Given the description of an element on the screen output the (x, y) to click on. 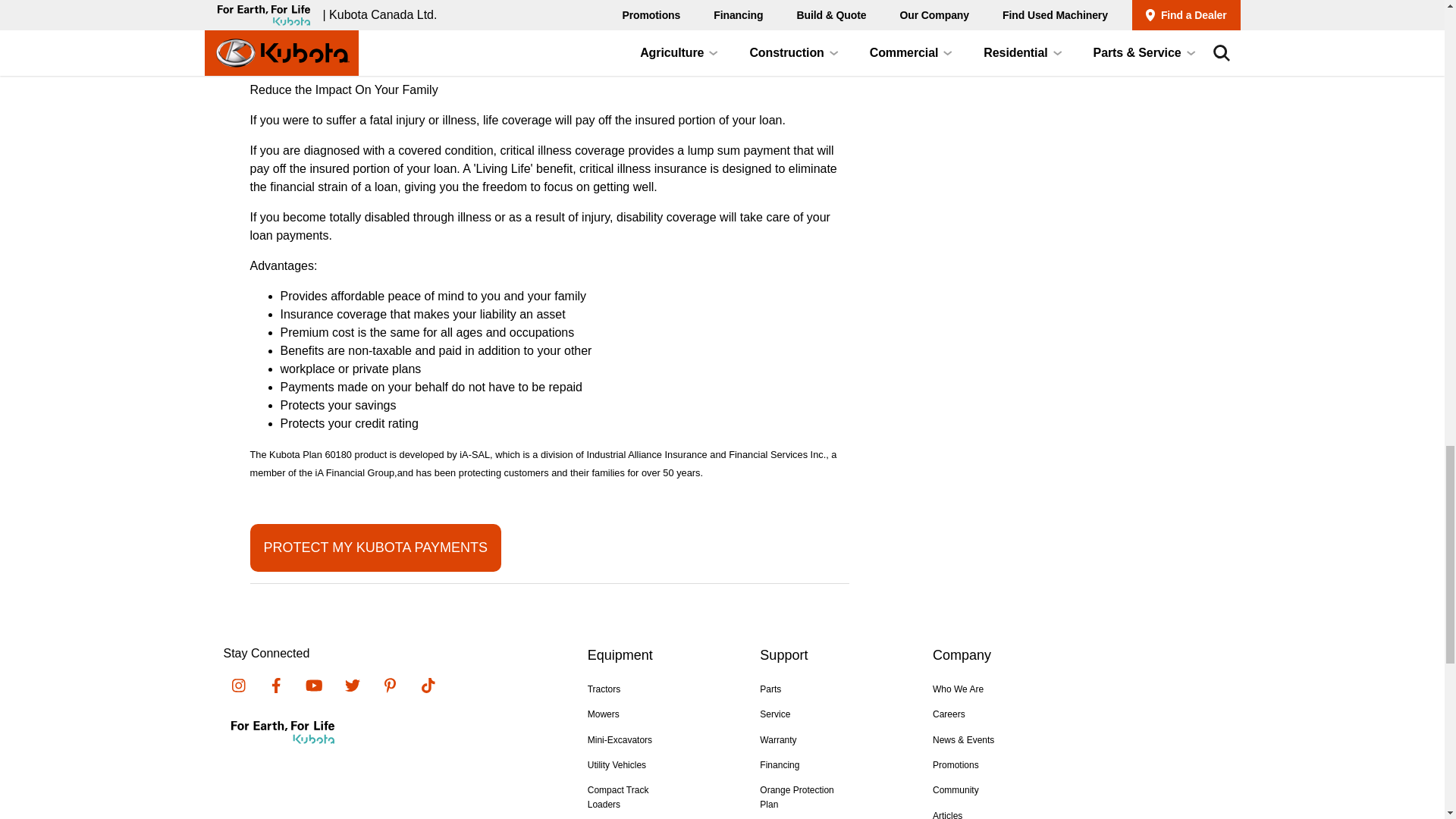
Mowers (604, 714)
Warranty (778, 739)
Financing (779, 765)
Parts (770, 688)
Compact Track Loaders (618, 796)
Mini-Excavators (375, 547)
Follow us on Pintrest (620, 739)
Follow us on Instagram (389, 685)
Follow us on Facebook (237, 685)
Follow us on YouTube (275, 685)
Tractors (313, 685)
Service (604, 688)
Follow us on TikTok (775, 714)
Utility Vehicles (427, 685)
